Given the description of an element on the screen output the (x, y) to click on. 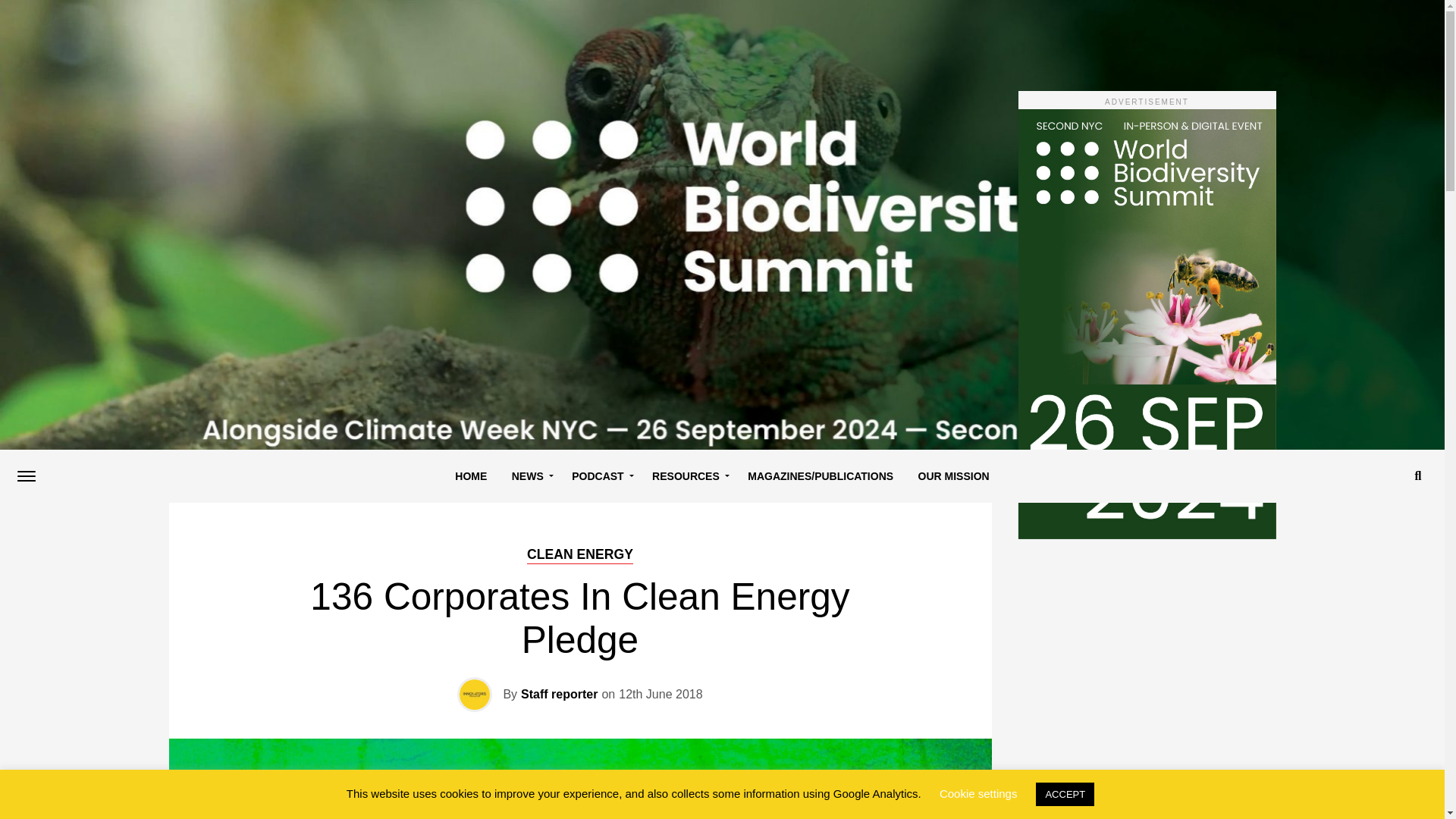
Posts by Staff reporter (558, 694)
PODCAST (598, 475)
HOME (470, 475)
RESOURCES (687, 475)
NEWS (528, 475)
